Given the description of an element on the screen output the (x, y) to click on. 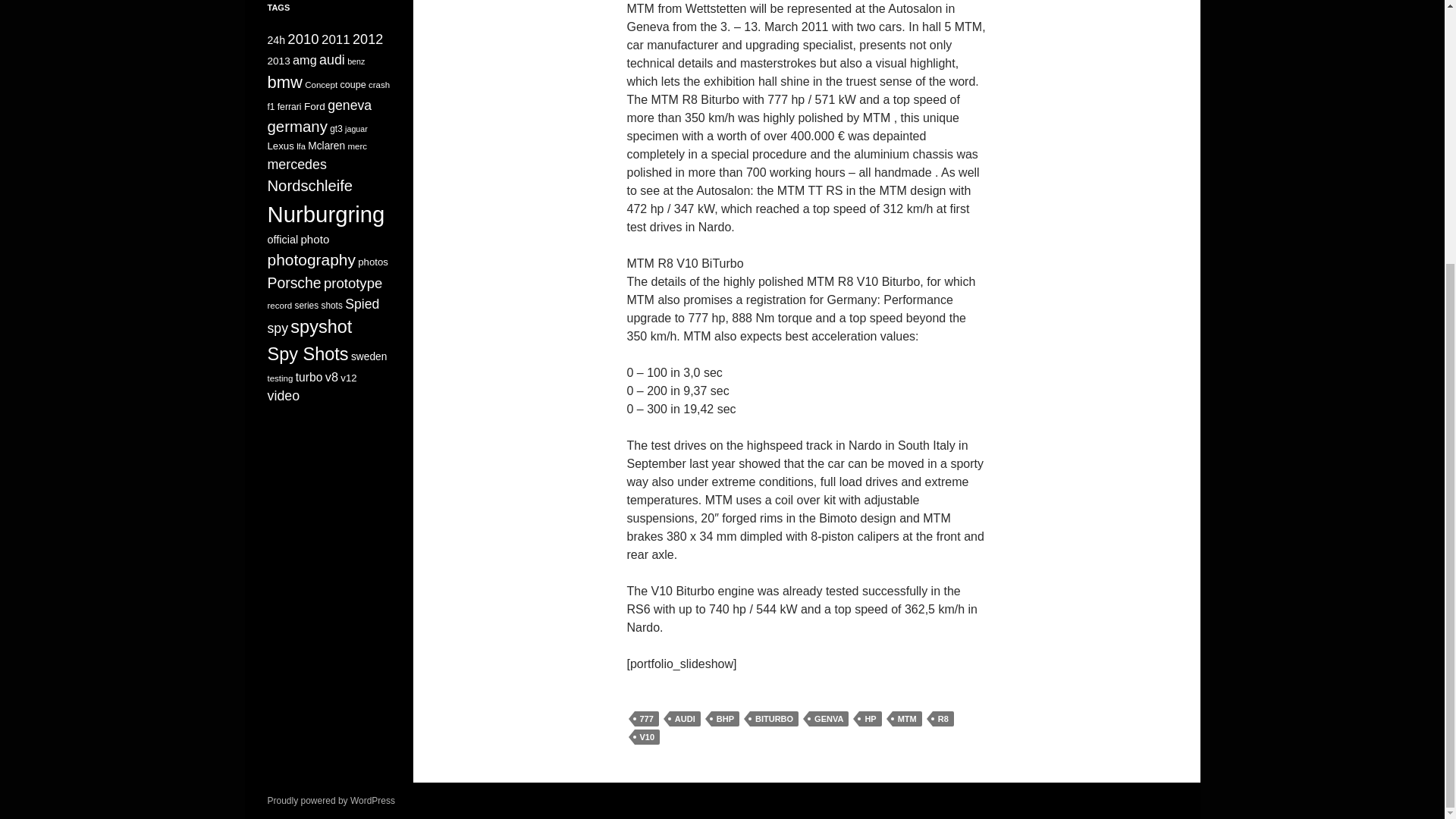
V10 (646, 735)
BHP (725, 717)
777 (645, 717)
BITURBO (773, 717)
HP (869, 717)
AUDI (684, 717)
GENVA (828, 717)
R8 (943, 717)
MTM (906, 717)
